Given the description of an element on the screen output the (x, y) to click on. 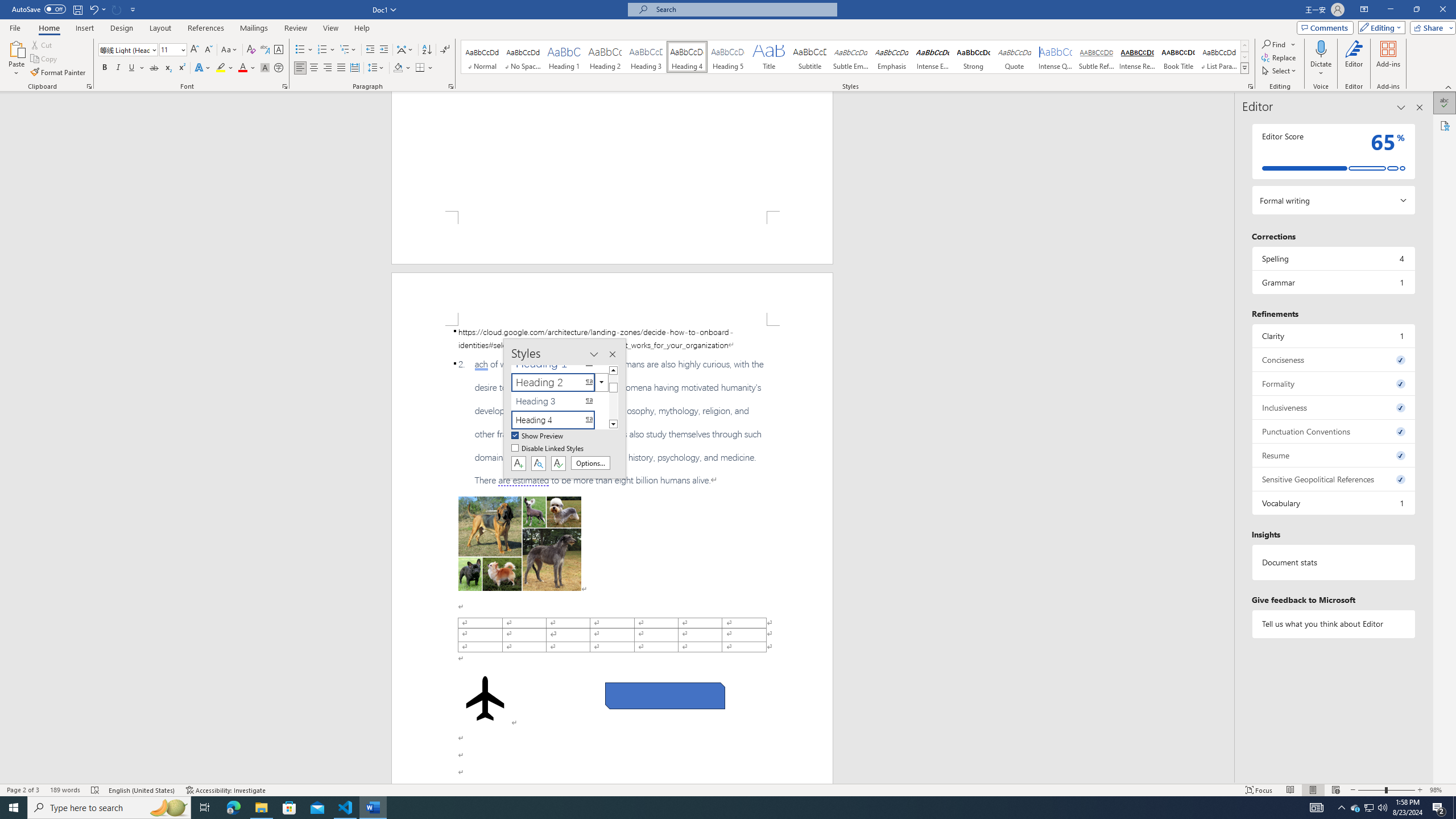
Editing (1379, 27)
Page Number Page 2 of 3 (22, 790)
Options... (590, 463)
Intense Emphasis (932, 56)
